Given the description of an element on the screen output the (x, y) to click on. 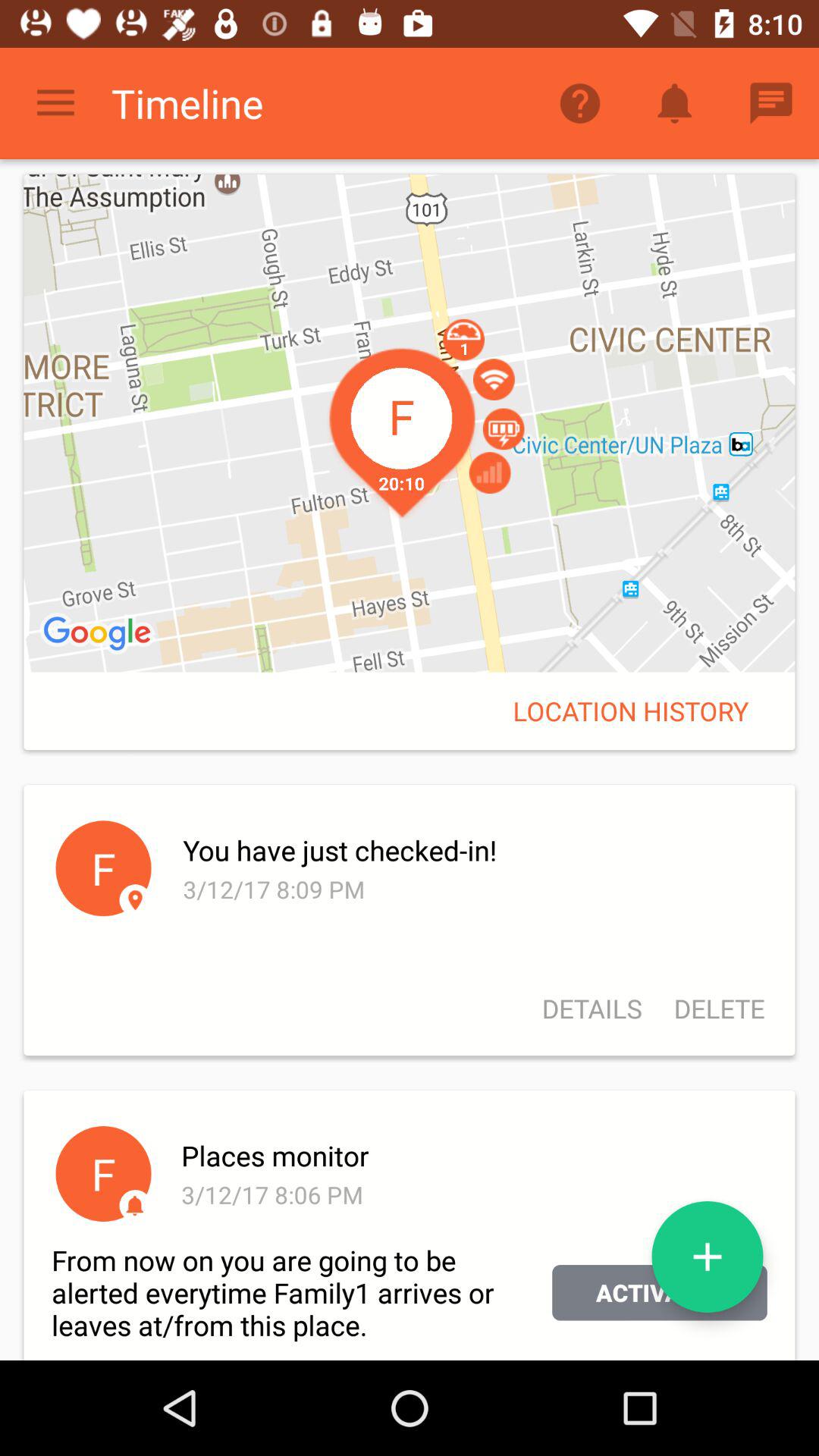
open item above from now on icon (135, 1205)
